Given the description of an element on the screen output the (x, y) to click on. 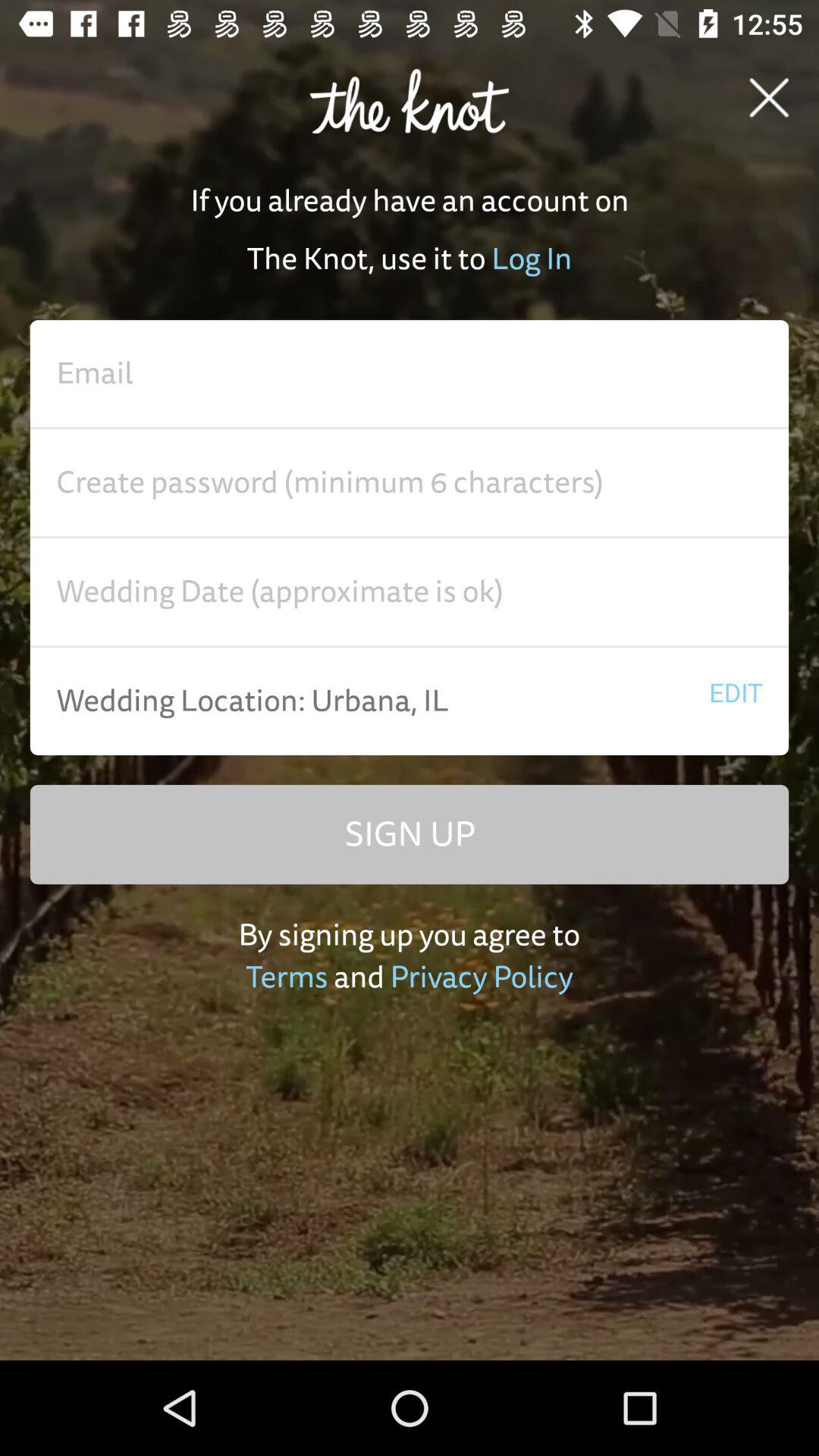
enter email address (409, 373)
